Given the description of an element on the screen output the (x, y) to click on. 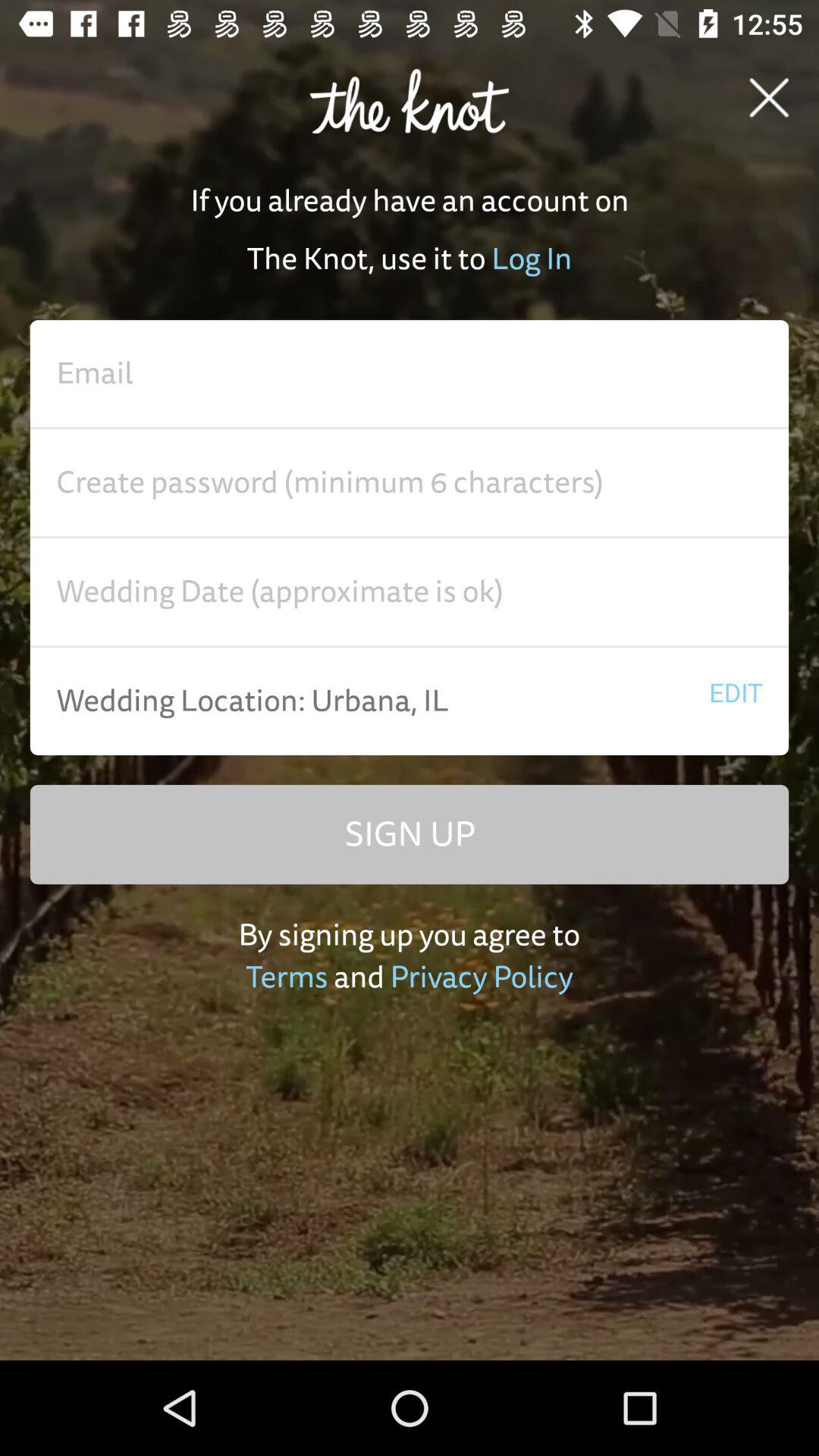
enter email address (409, 373)
